Given the description of an element on the screen output the (x, y) to click on. 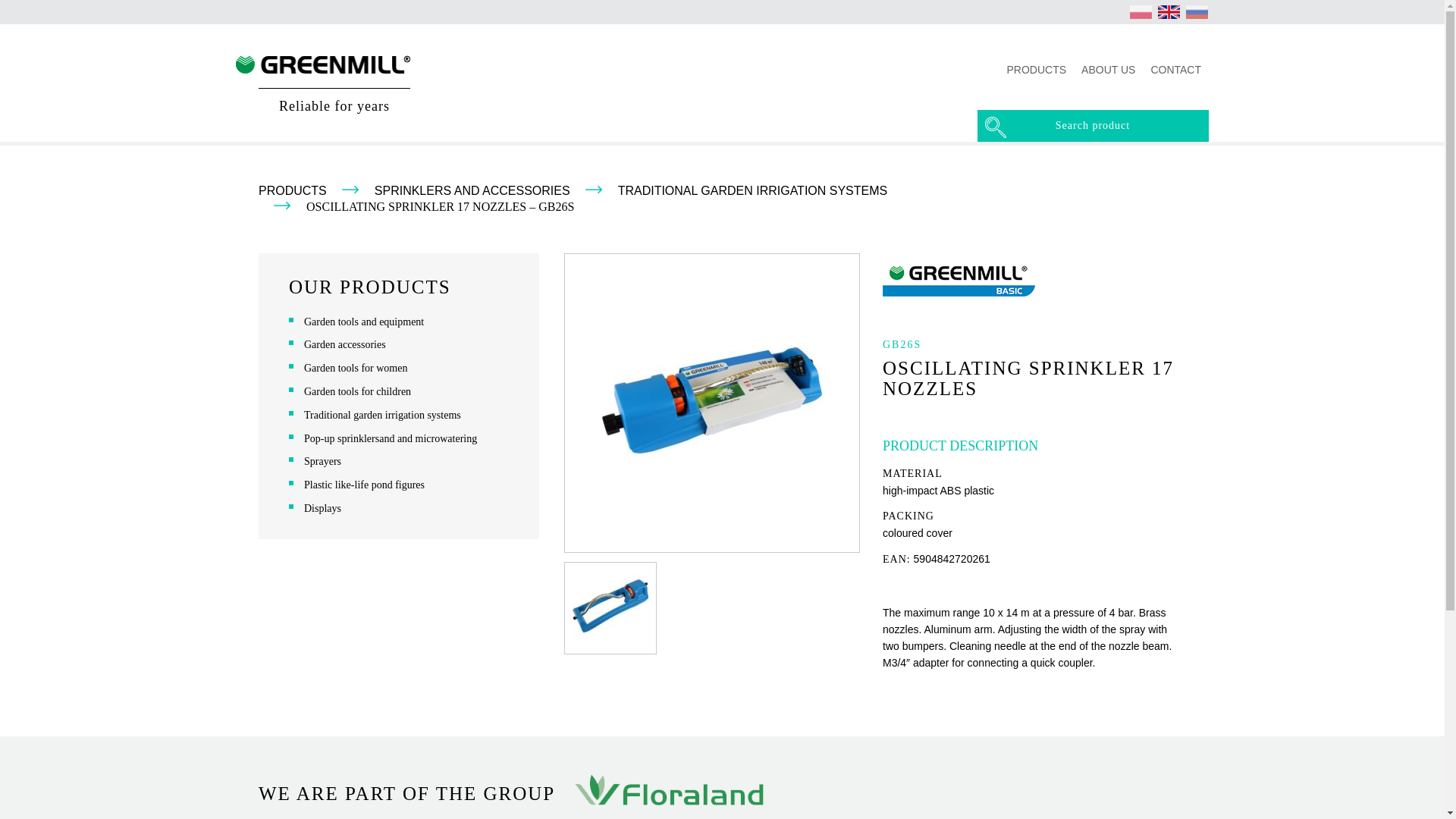
Garden tools for women (355, 367)
Garden tools for women (355, 367)
Reliable for years (322, 89)
Garden tools for children (357, 391)
Plastic like-life pond figures (364, 484)
Displays (322, 508)
Garden tools and equipment (363, 321)
Polish (1141, 11)
Russian (1197, 11)
PRODUCTS (292, 190)
